Given the description of an element on the screen output the (x, y) to click on. 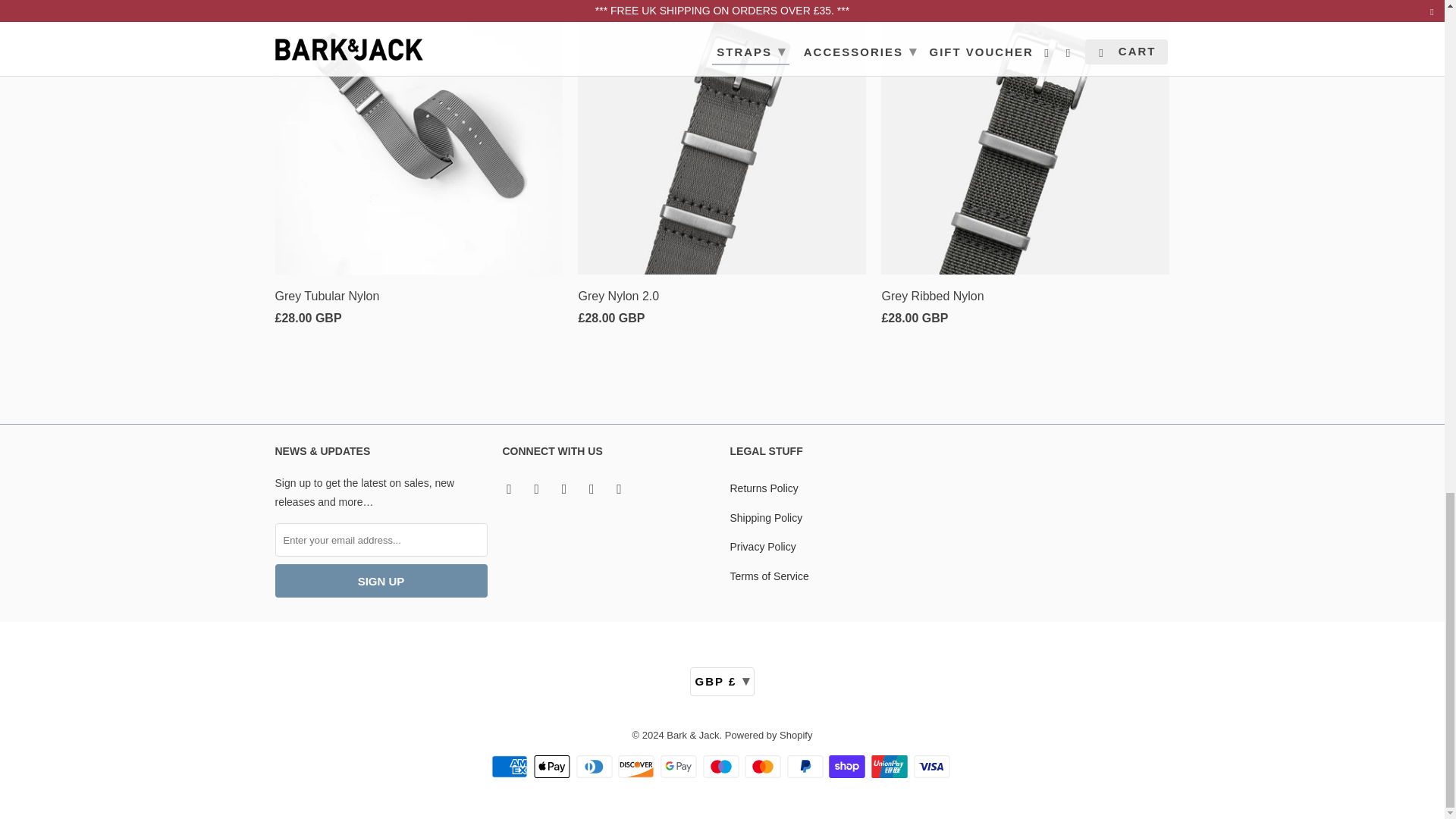
Mastercard (764, 766)
Discover (637, 766)
PayPal (807, 766)
Visa (933, 766)
Google Pay (680, 766)
Union Pay (890, 766)
Diners Club (595, 766)
Apple Pay (553, 766)
Maestro (721, 766)
Sign Up (380, 580)
Shop Pay (847, 766)
American Express (511, 766)
